Given the description of an element on the screen output the (x, y) to click on. 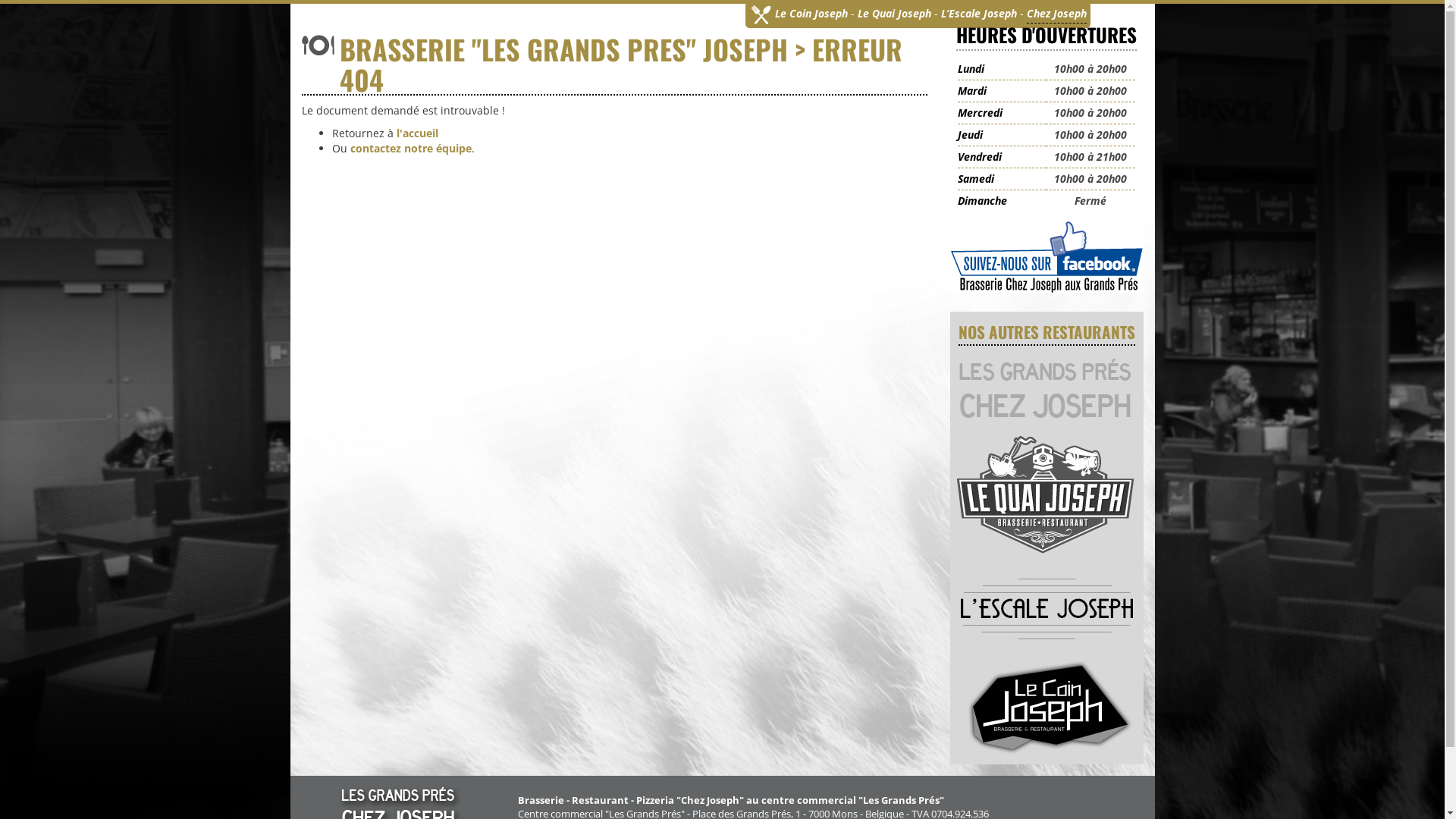
Le Quai Joseph Element type: text (893, 13)
Chez Joseph Element type: text (1056, 13)
Le Coin Joseph - Frameries Element type: hover (1046, 706)
l'accueil Element type: text (416, 132)
L'Escale Joseph sur Facebook Element type: hover (1045, 255)
Le Coin Joseph - Frameries Element type: hover (1046, 707)
Le Quai Joseph - Ghlin Element type: hover (1046, 490)
L'Escale Joseph sur Facebook Element type: hover (1045, 254)
Le Quai Joseph - Ghlin Element type: hover (1046, 492)
Le Coin Joseph Element type: text (811, 13)
